Given the description of an element on the screen output the (x, y) to click on. 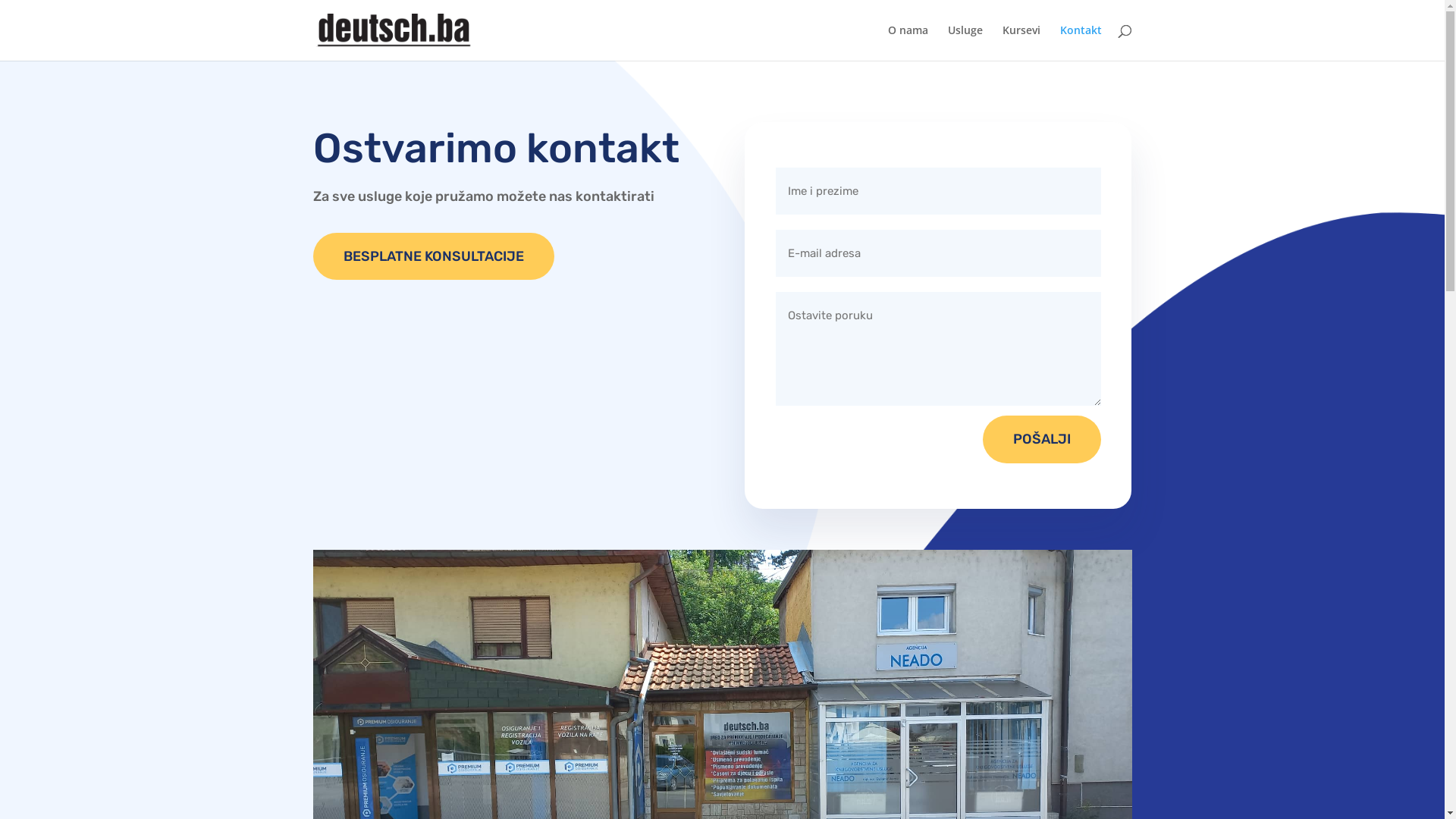
BESPLATNE KONSULTACIJE Element type: text (432, 256)
Kursevi Element type: text (1021, 42)
O nama Element type: text (907, 42)
Usluge Element type: text (964, 42)
Kontakt Element type: text (1080, 42)
